Given the description of an element on the screen output the (x, y) to click on. 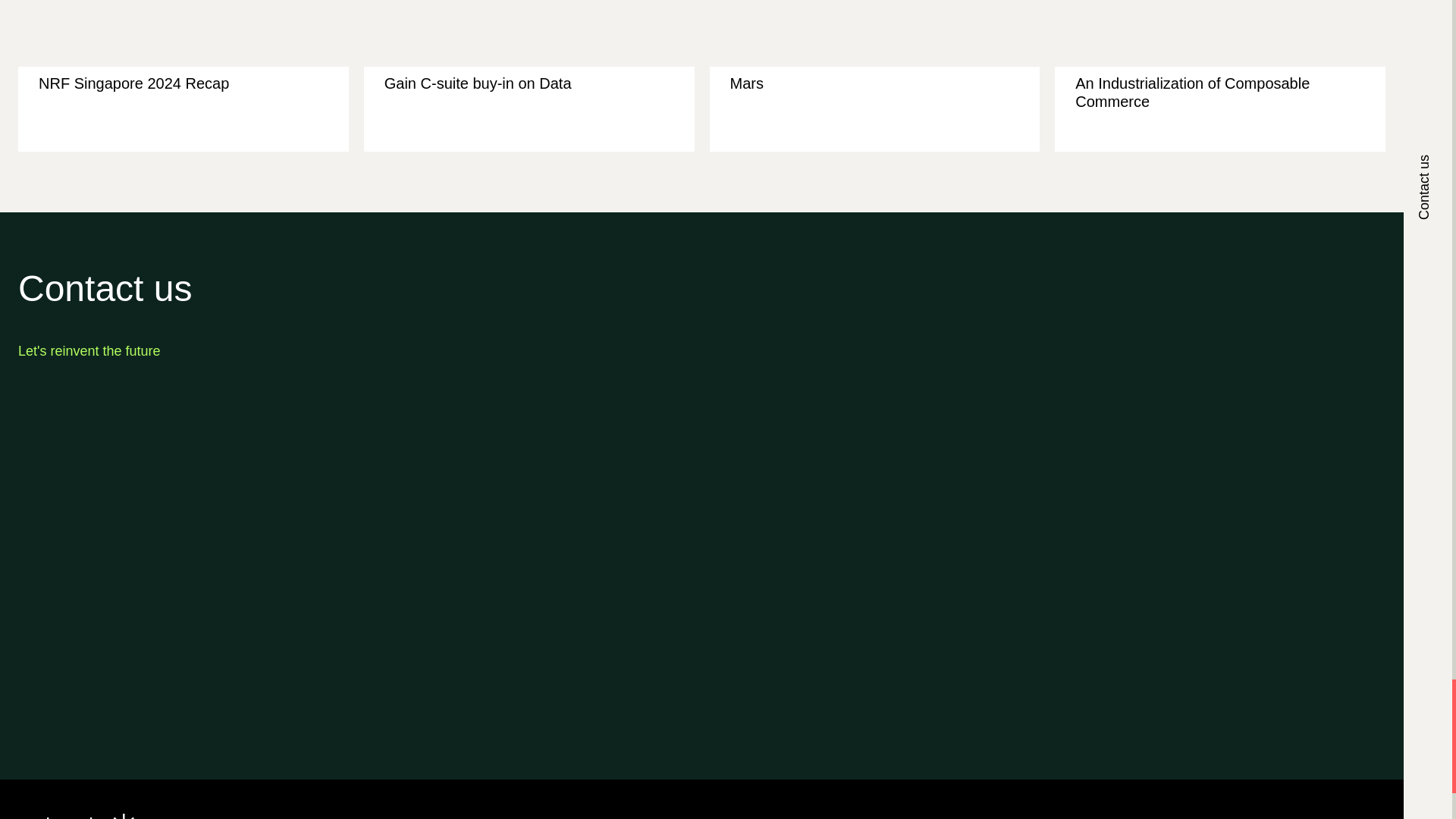
Valtech Logo (77, 816)
